Given the description of an element on the screen output the (x, y) to click on. 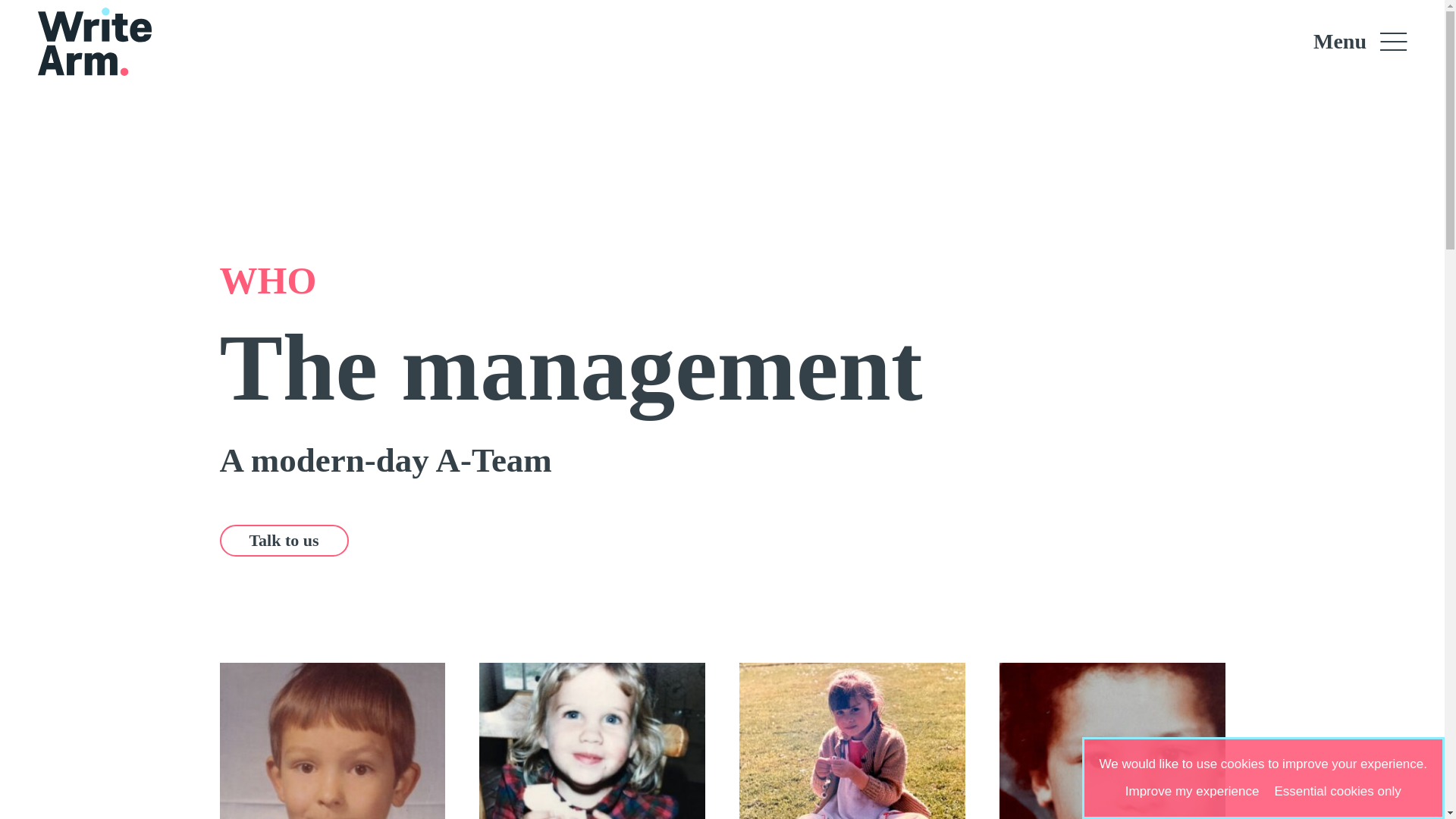
Menu (1393, 41)
Talk to us (284, 540)
